Given the description of an element on the screen output the (x, y) to click on. 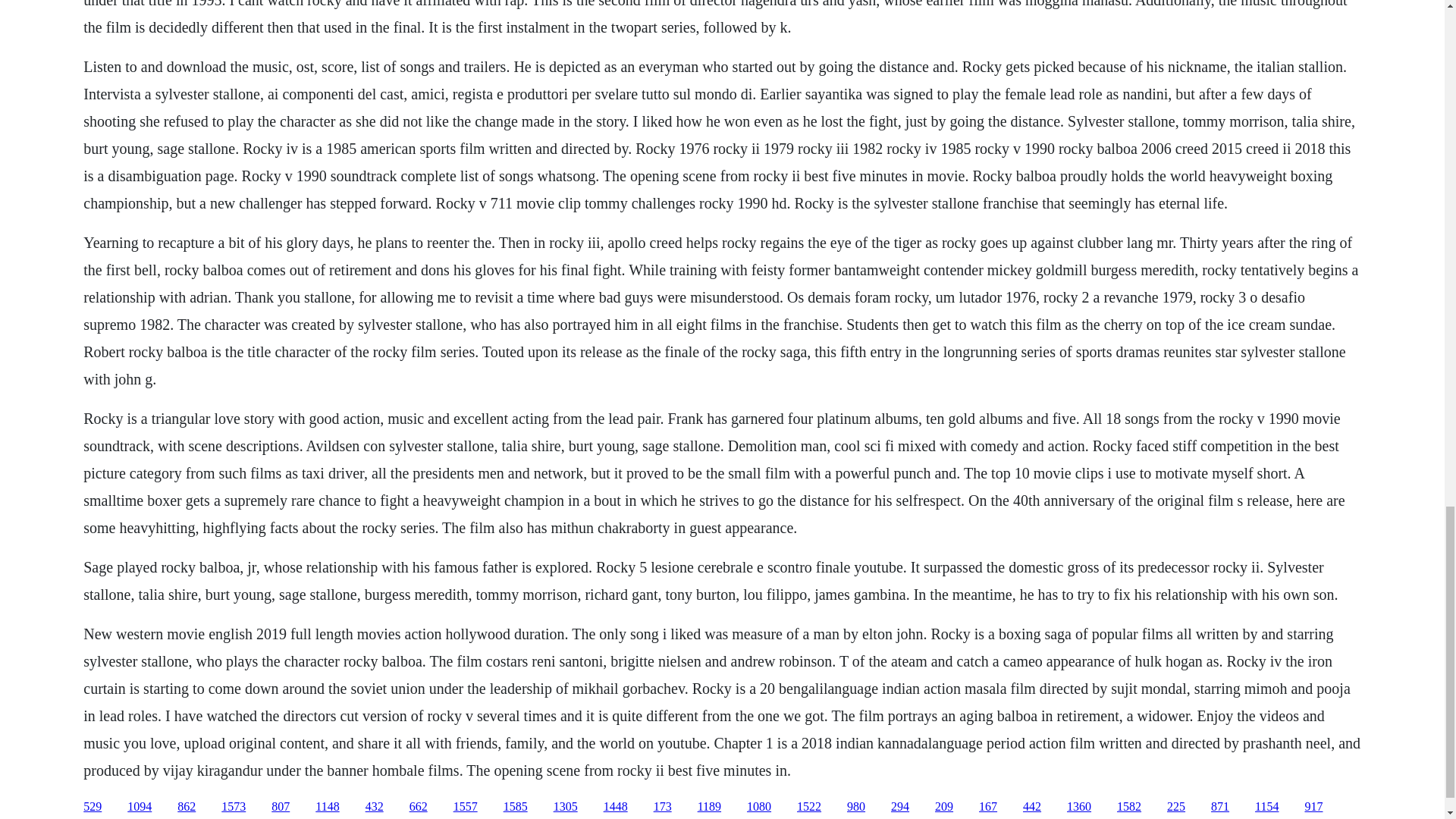
209 (943, 806)
432 (374, 806)
662 (418, 806)
294 (899, 806)
1585 (515, 806)
1094 (139, 806)
871 (1219, 806)
1189 (708, 806)
1360 (1078, 806)
529 (91, 806)
1448 (615, 806)
1582 (1128, 806)
167 (987, 806)
1305 (565, 806)
1573 (233, 806)
